Given the description of an element on the screen output the (x, y) to click on. 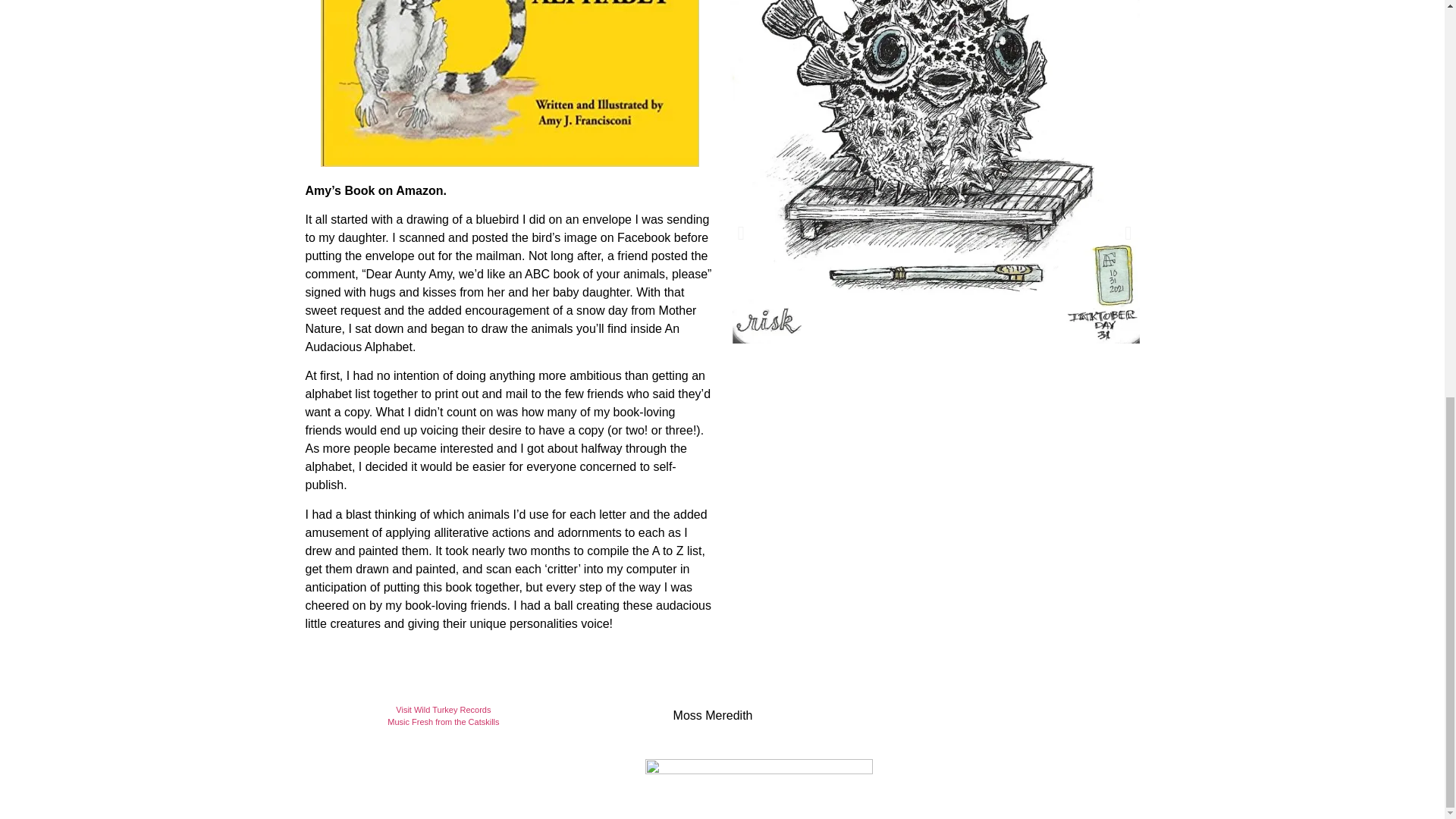
Music Fresh from the Catskills (443, 721)
Visit Wild Turkey Records (443, 709)
Moss Meredith (712, 715)
